Given the description of an element on the screen output the (x, y) to click on. 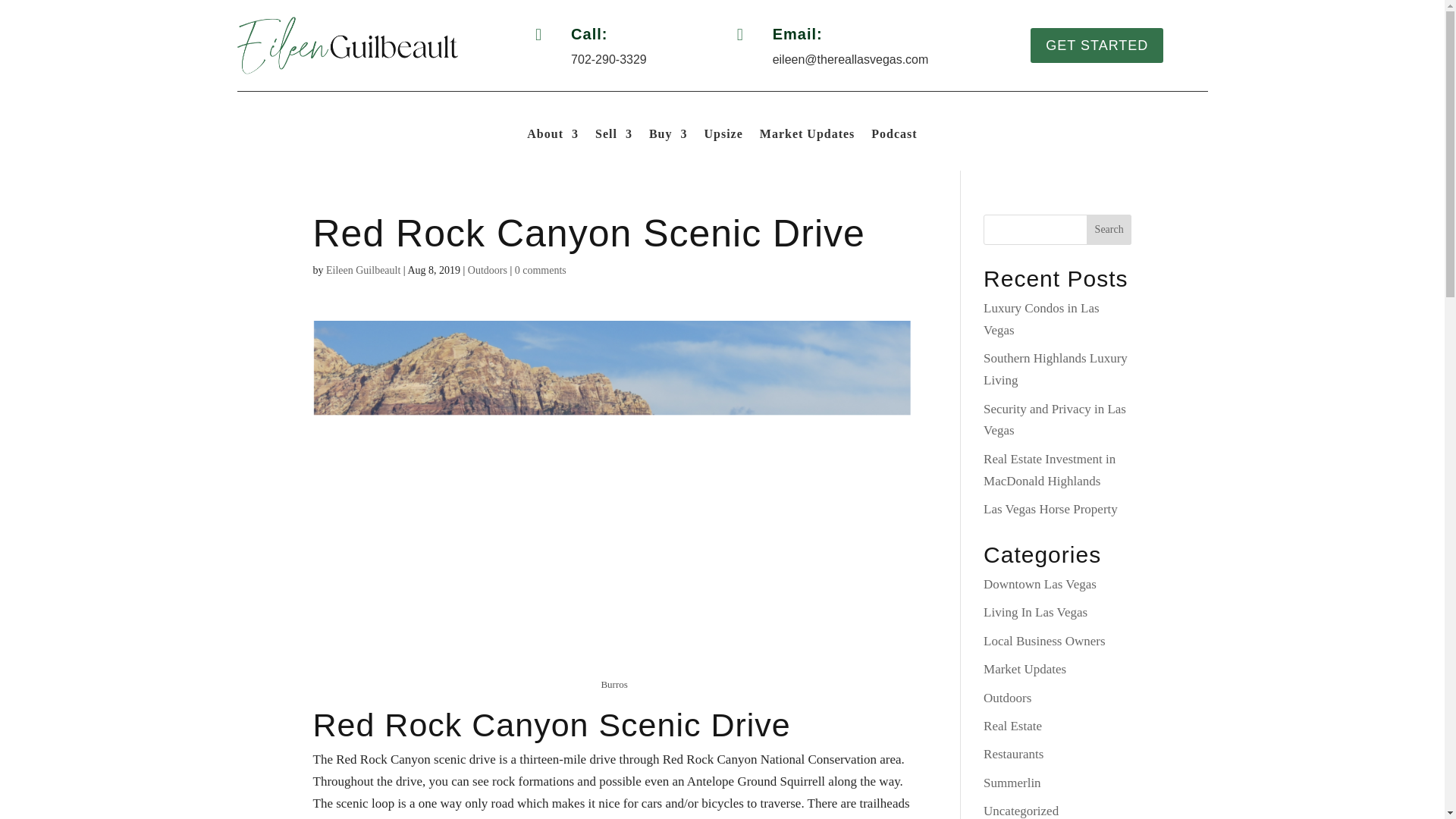
Luxury Condos in Las Vegas (1041, 319)
Downtown Las Vegas (1040, 584)
Outdoors (486, 270)
Southern Highlands Luxury Living (1055, 369)
Posts by Eileen Guilbeault (363, 270)
Real Estate Investment in MacDonald Highlands (1049, 470)
Eileen Guilbeault (363, 270)
Market Updates (1024, 668)
Security and Privacy in Las Vegas (1054, 420)
Summerlin (1012, 782)
